Given the description of an element on the screen output the (x, y) to click on. 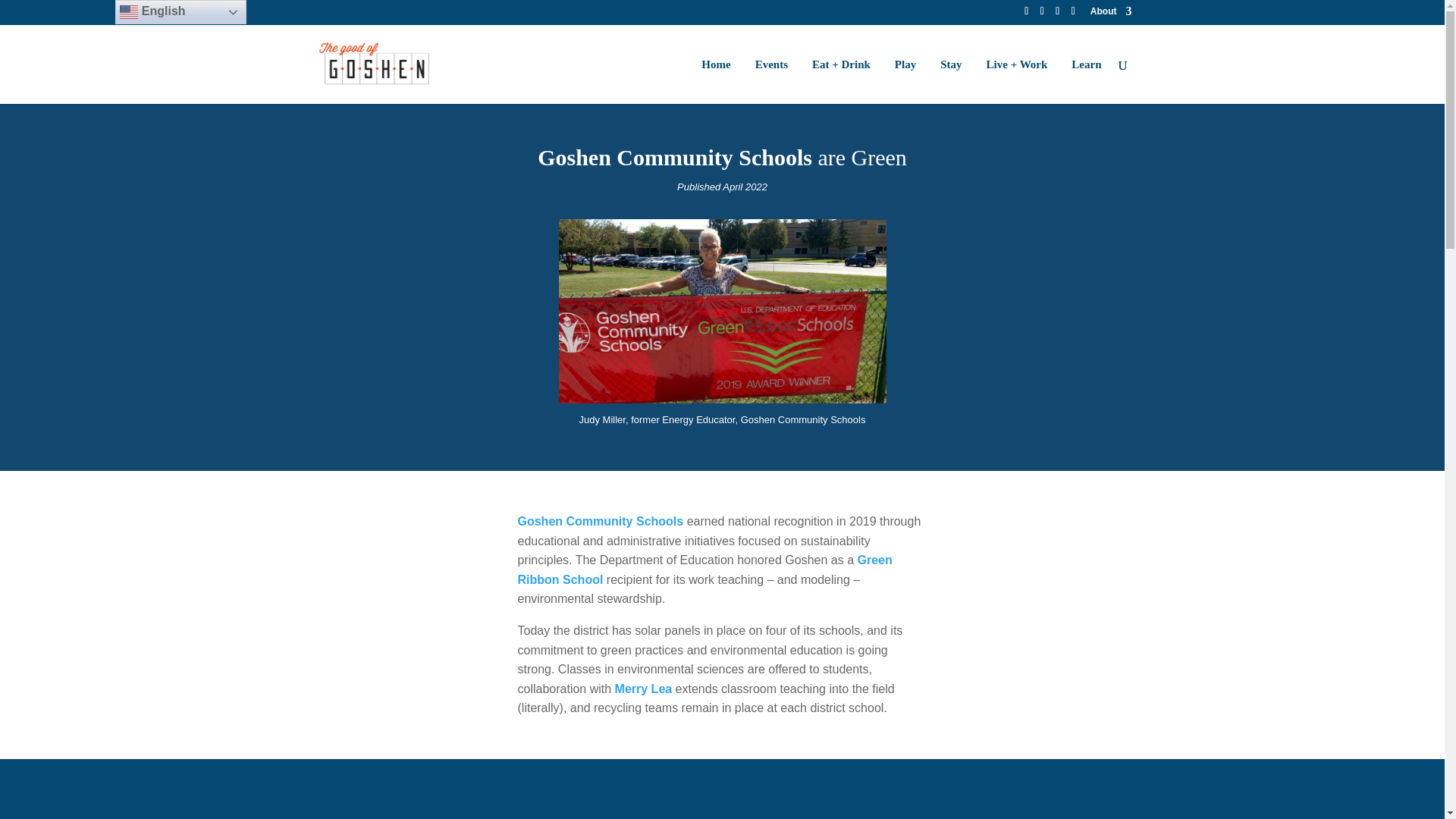
About (1111, 14)
Events (771, 81)
Judy Miller  (721, 399)
Play (905, 81)
Learn (1085, 81)
Home (715, 81)
Stay (950, 81)
